Given the description of an element on the screen output the (x, y) to click on. 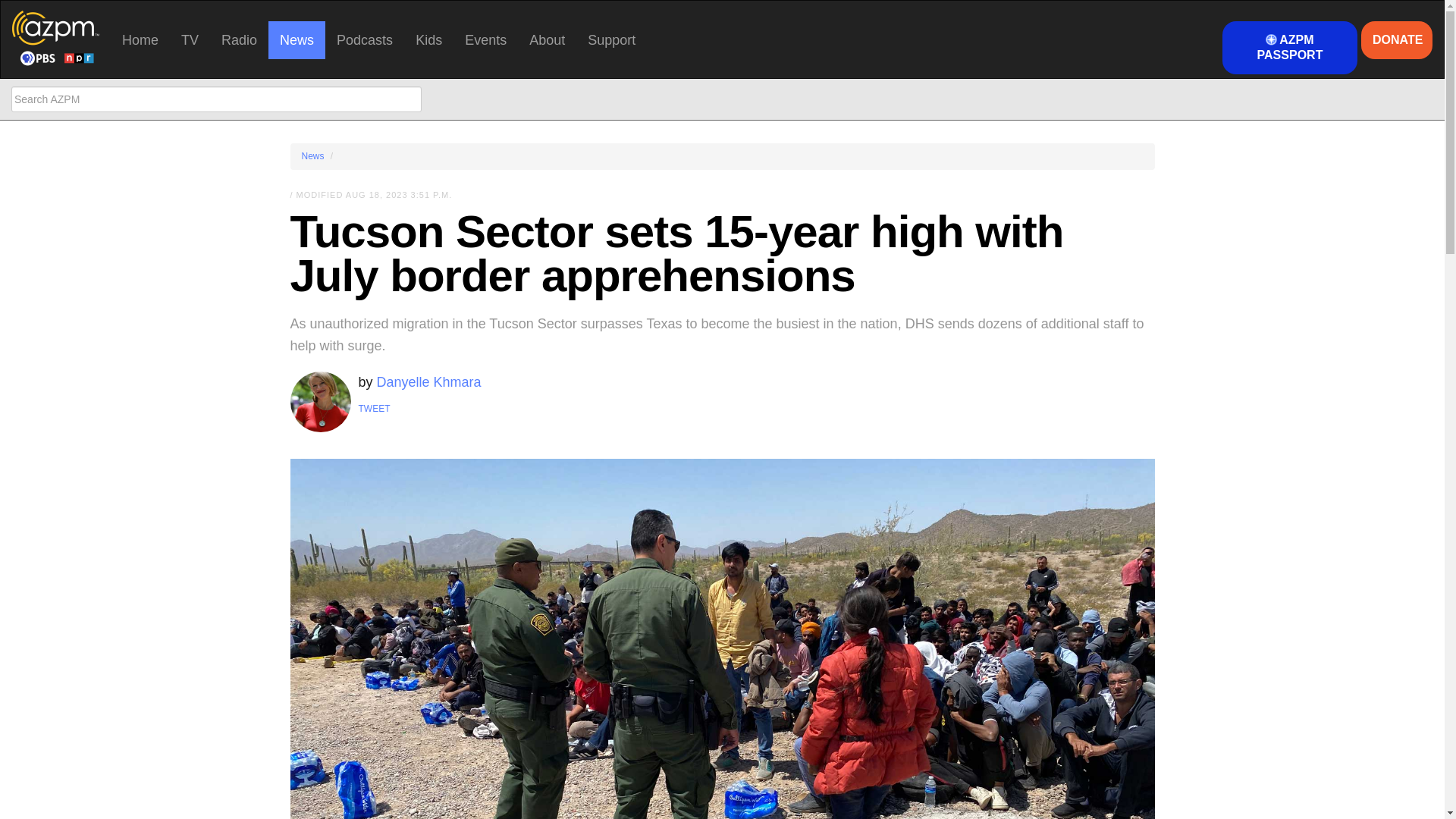
Kids (428, 39)
Podcasts (364, 39)
TV (189, 39)
About (547, 39)
Radio (238, 39)
Home (140, 39)
News (295, 39)
Events (485, 39)
